Given the description of an element on the screen output the (x, y) to click on. 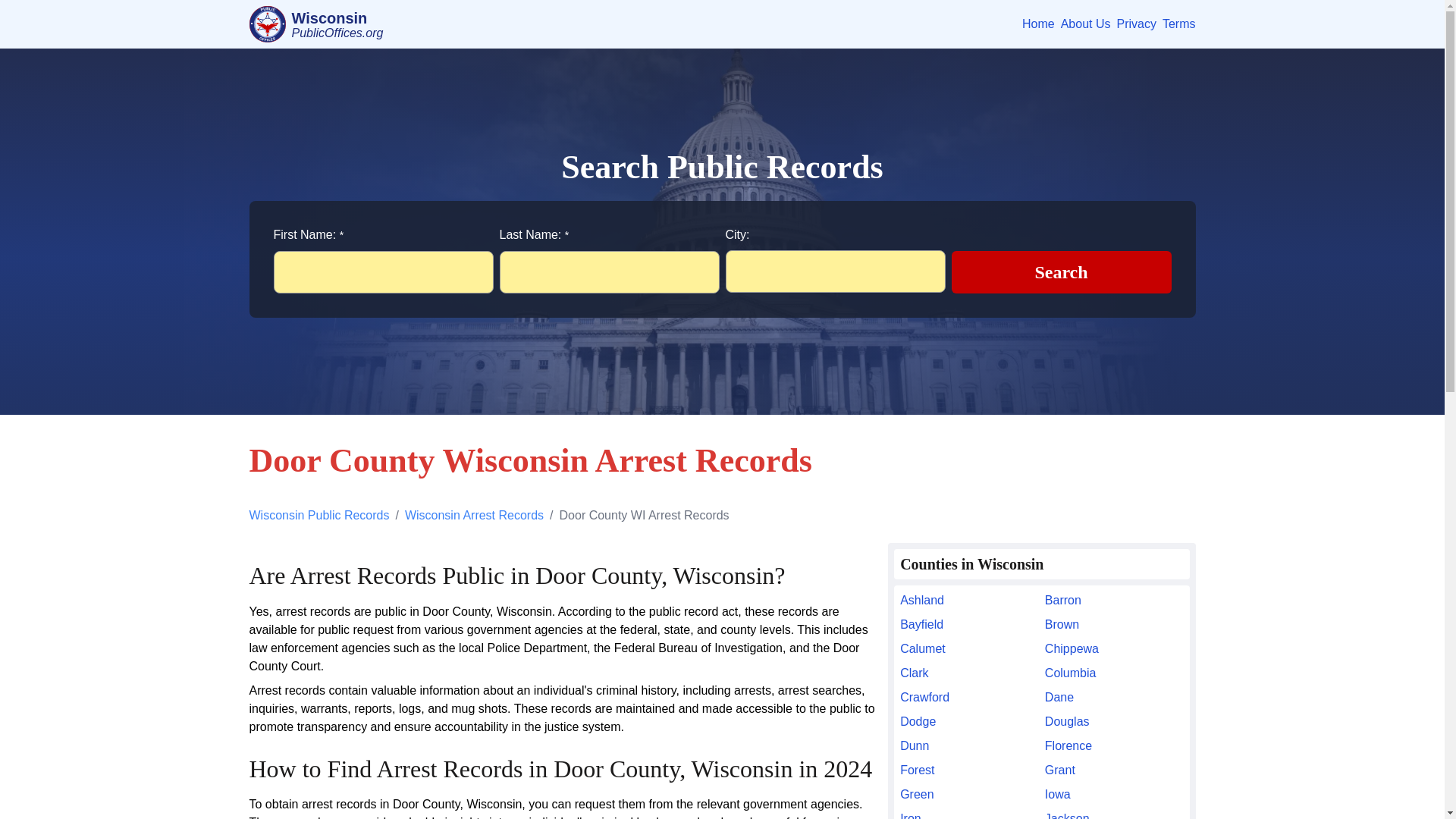
Clark (969, 673)
Douglas (1114, 721)
About Us (1085, 24)
Bayfield (969, 624)
Green (969, 794)
Jackson (1114, 814)
Forest (969, 770)
Home (1038, 24)
Dodge (969, 721)
Iowa (1114, 794)
Brown (1114, 624)
Ashland (969, 600)
Dunn (969, 746)
Florence (1114, 746)
